Given the description of an element on the screen output the (x, y) to click on. 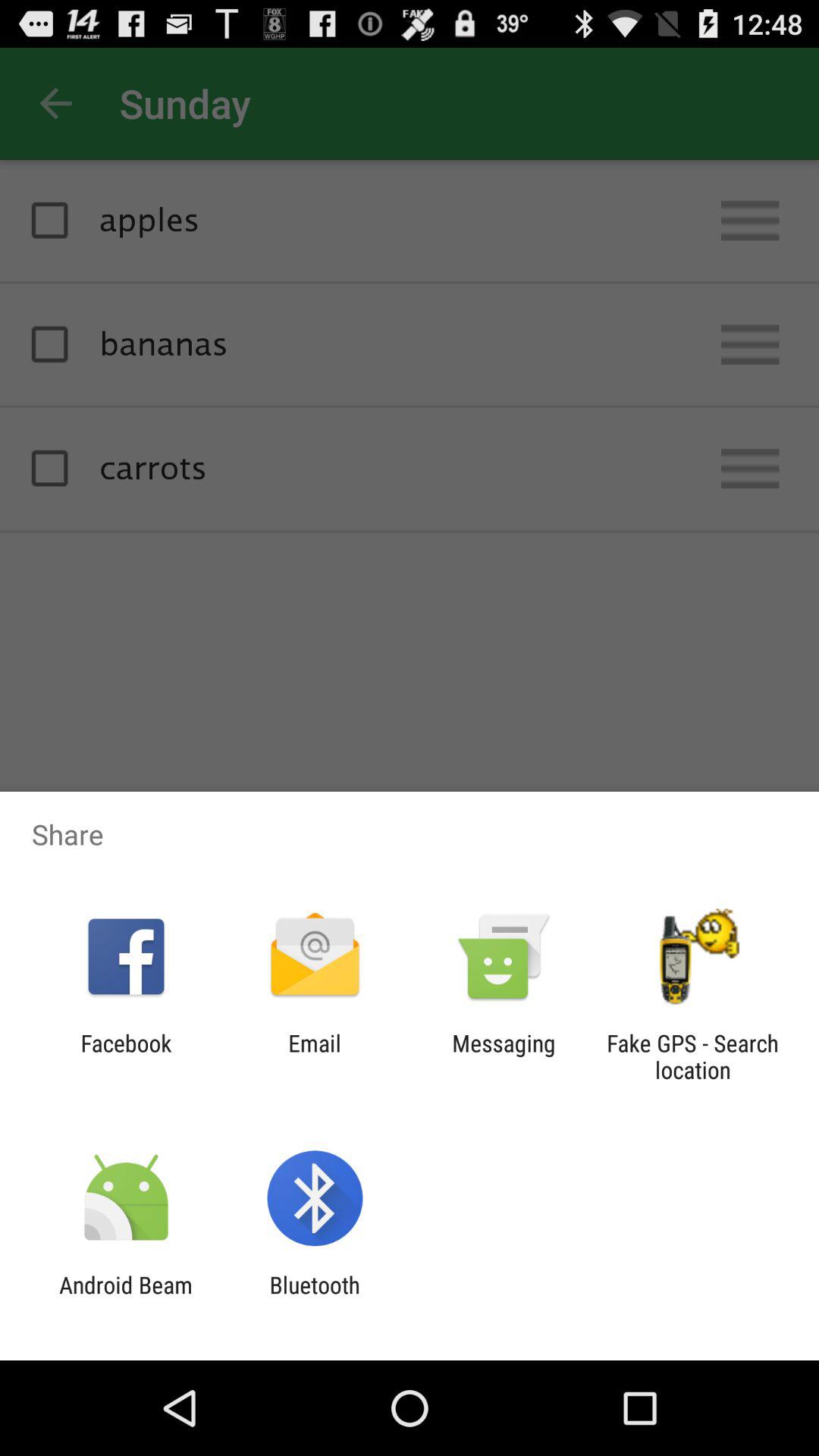
open app to the left of messaging icon (314, 1056)
